Given the description of an element on the screen output the (x, y) to click on. 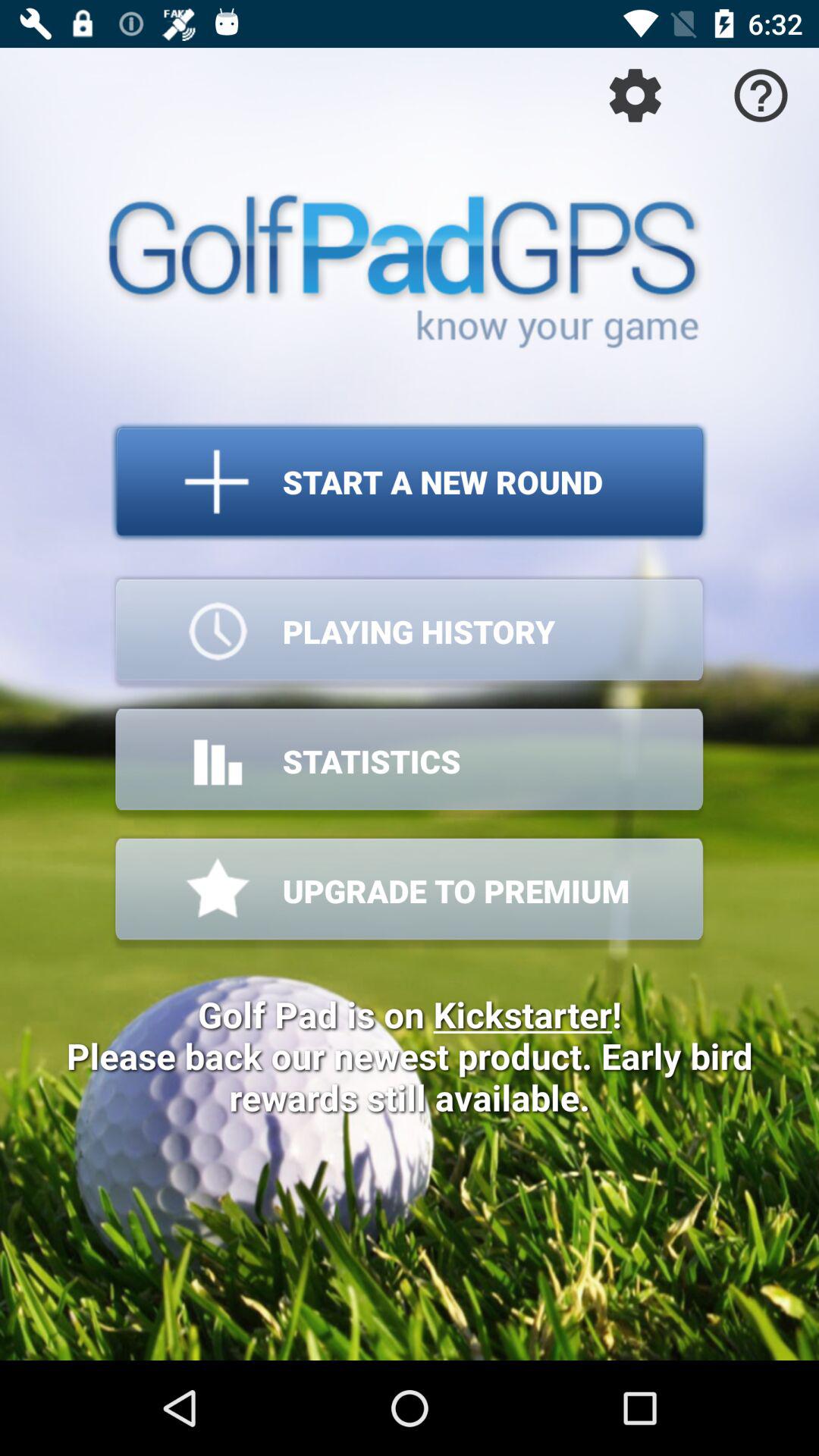
search for help (760, 95)
